Given the description of an element on the screen output the (x, y) to click on. 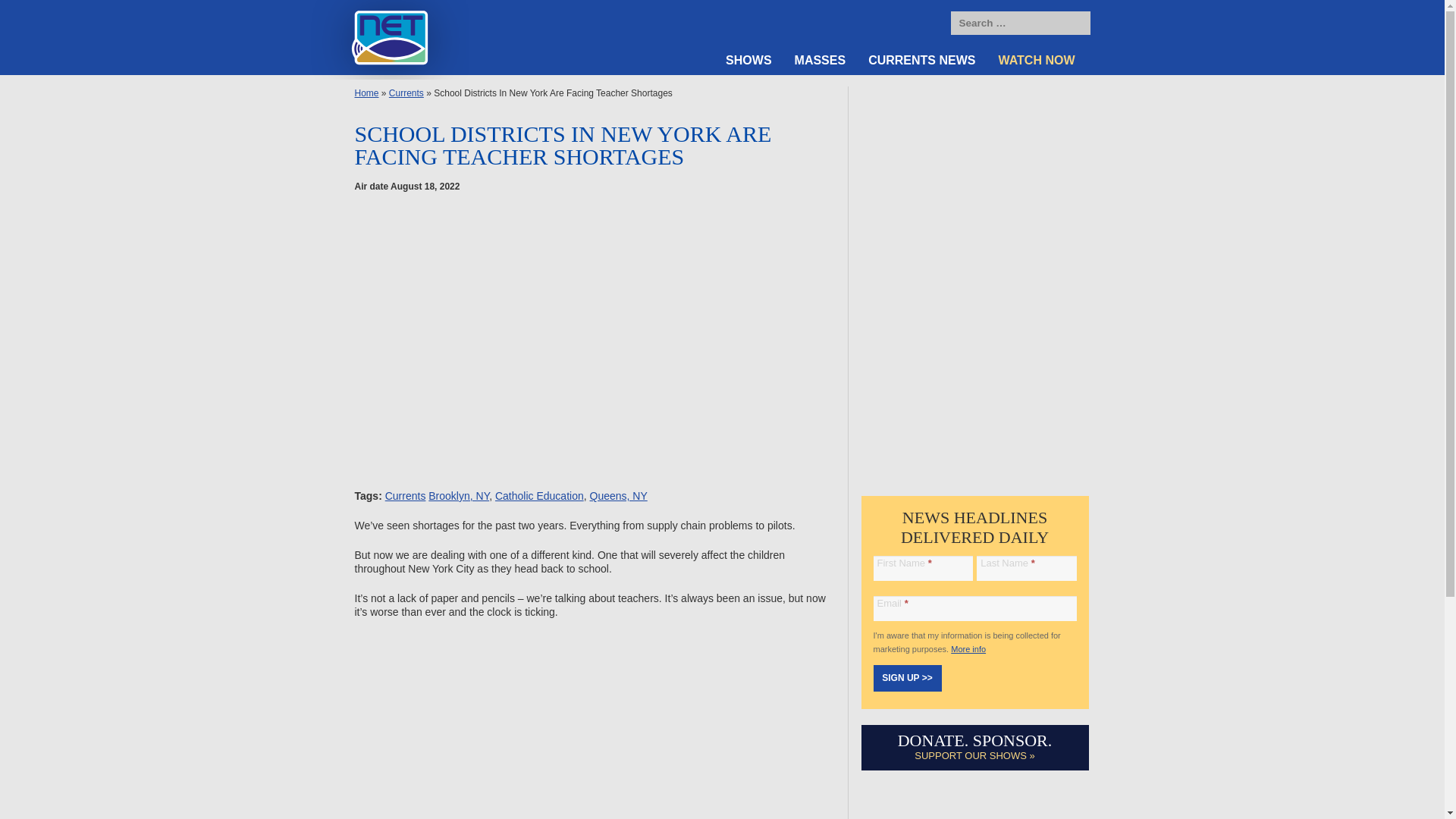
CURRENTS NEWS (922, 60)
Search (1075, 23)
Queens, NY (618, 495)
SHOWS (748, 60)
Home (366, 92)
Catholic Education (539, 495)
Currents (405, 495)
Brooklyn, NY (458, 495)
Search (1075, 23)
DONATE. SPONSOR. (975, 740)
MASSES (820, 60)
Currents (405, 92)
More info (967, 648)
Search (1075, 23)
WATCH NOW (1038, 60)
